Given the description of an element on the screen output the (x, y) to click on. 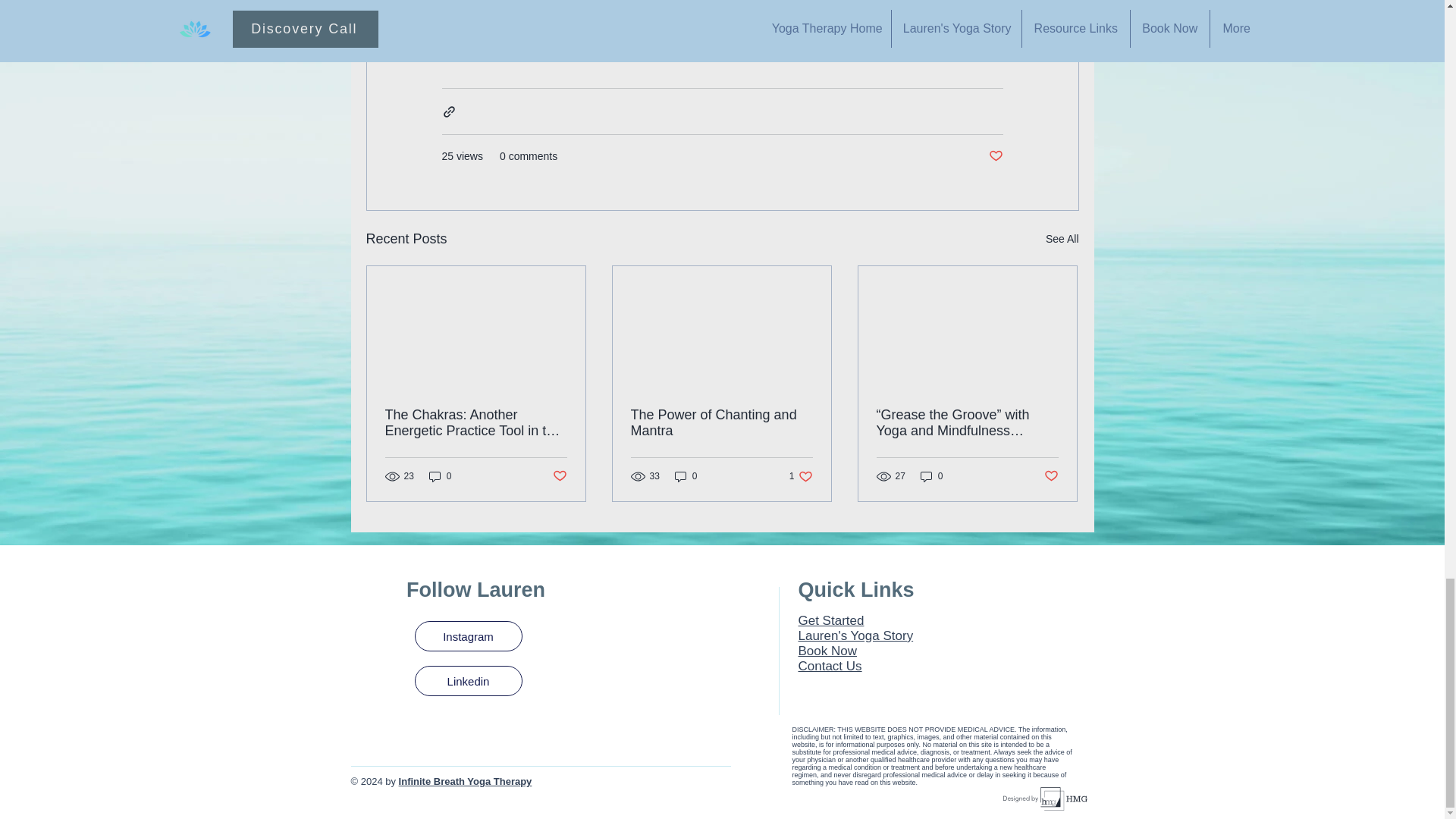
0 (685, 476)
Post not marked as liked (558, 476)
Infinite Breath Yoga Therapy (465, 781)
The Power of Chanting and Mantra (721, 422)
Get Started (830, 620)
See All (1061, 239)
Linkedin (467, 680)
The Chakras: Another Energetic Practice Tool in the Box (476, 422)
0 (931, 476)
Post not marked as liked (1050, 476)
